Given the description of an element on the screen output the (x, y) to click on. 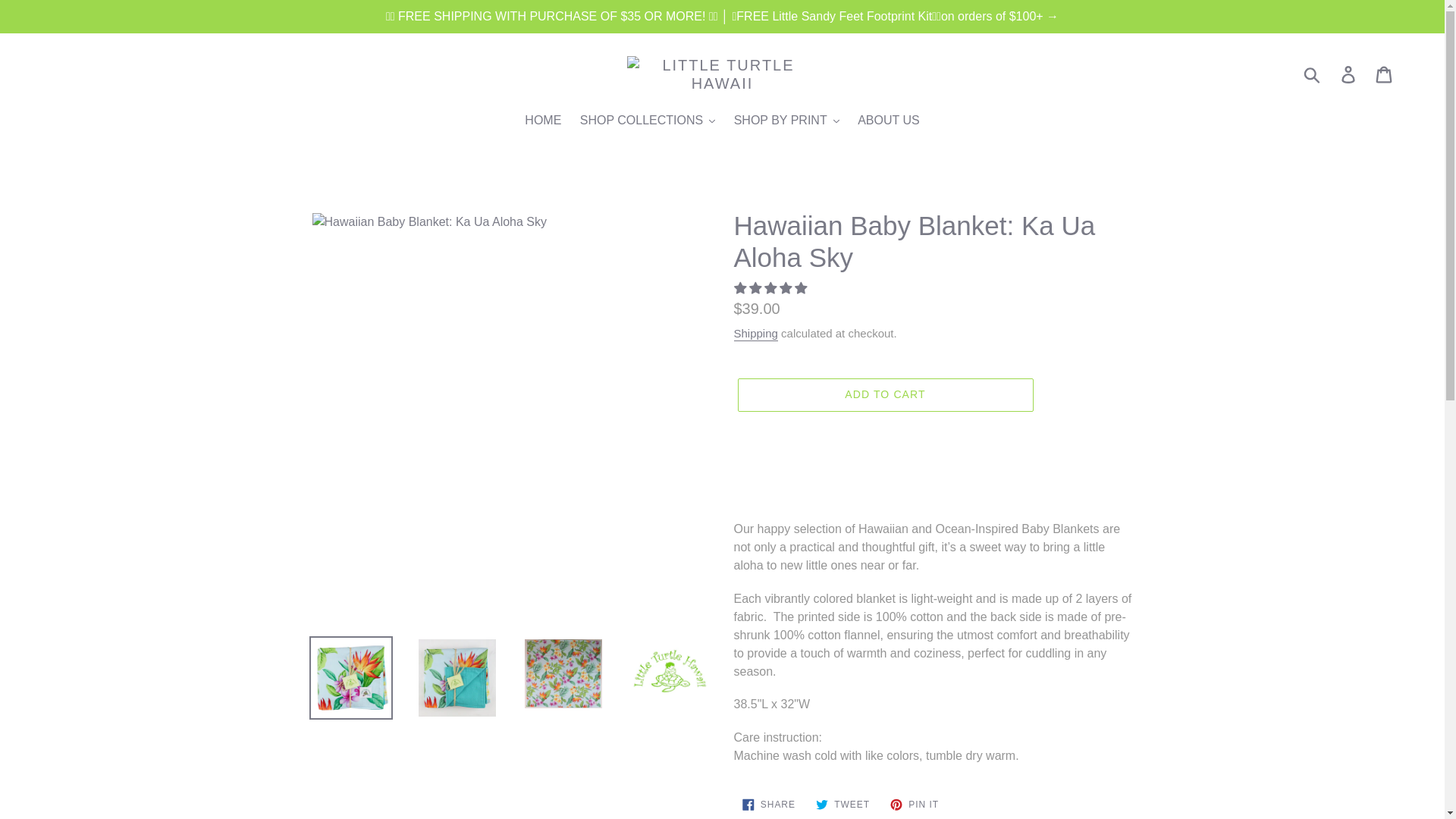
Cart (1385, 73)
Log in (1349, 73)
Submit (1313, 73)
